Given the description of an element on the screen output the (x, y) to click on. 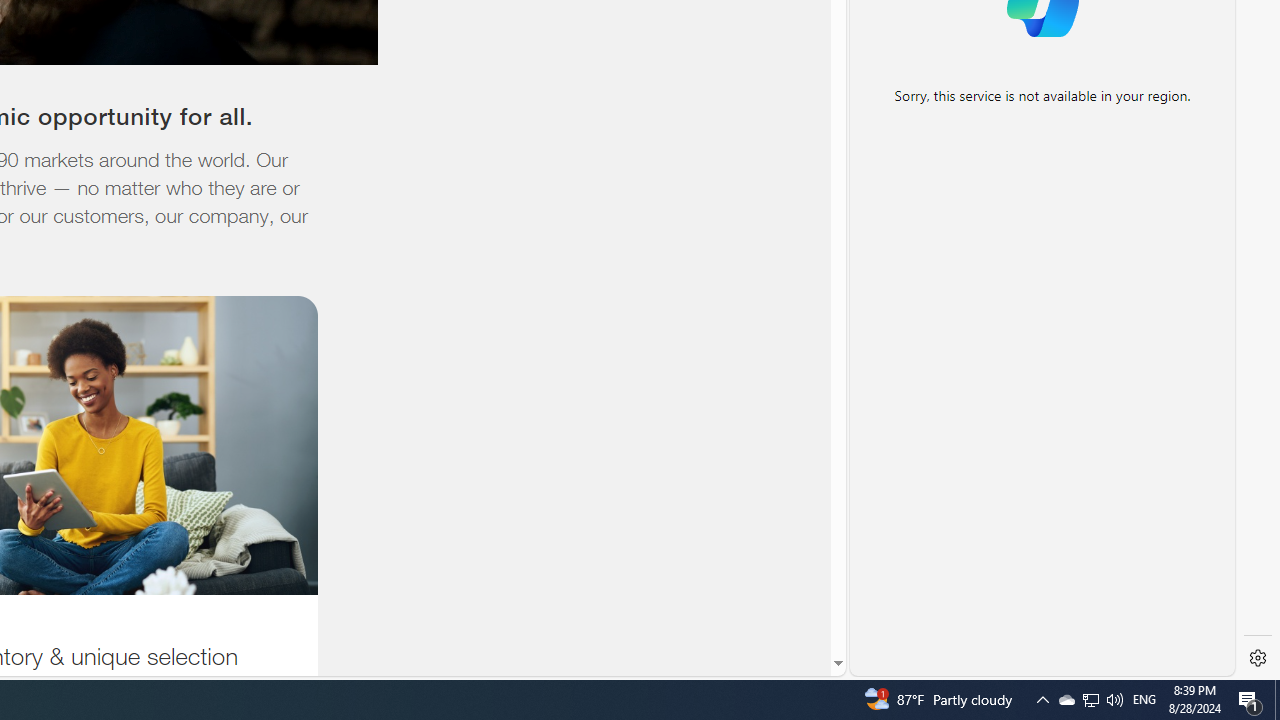
Settings (1258, 658)
